Given the description of an element on the screen output the (x, y) to click on. 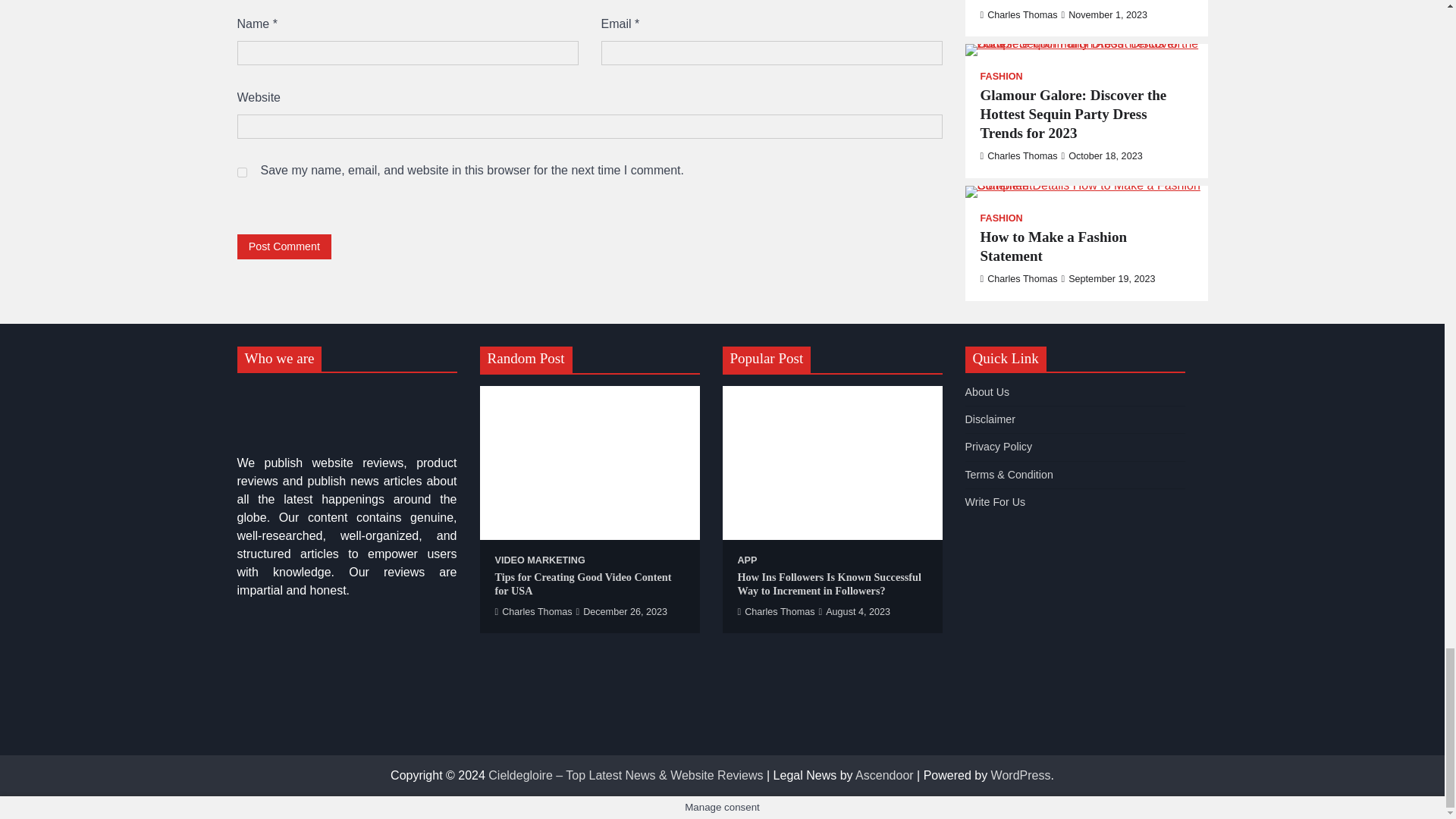
yes (240, 172)
DMCA.com Protection Status (346, 727)
Post Comment (283, 246)
